Given the description of an element on the screen output the (x, y) to click on. 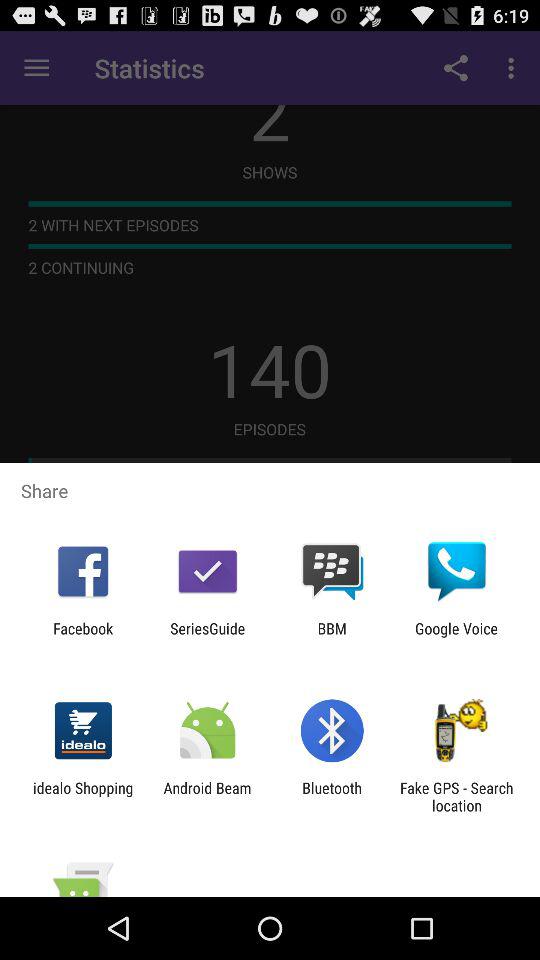
turn on icon next to bbm item (207, 637)
